Given the description of an element on the screen output the (x, y) to click on. 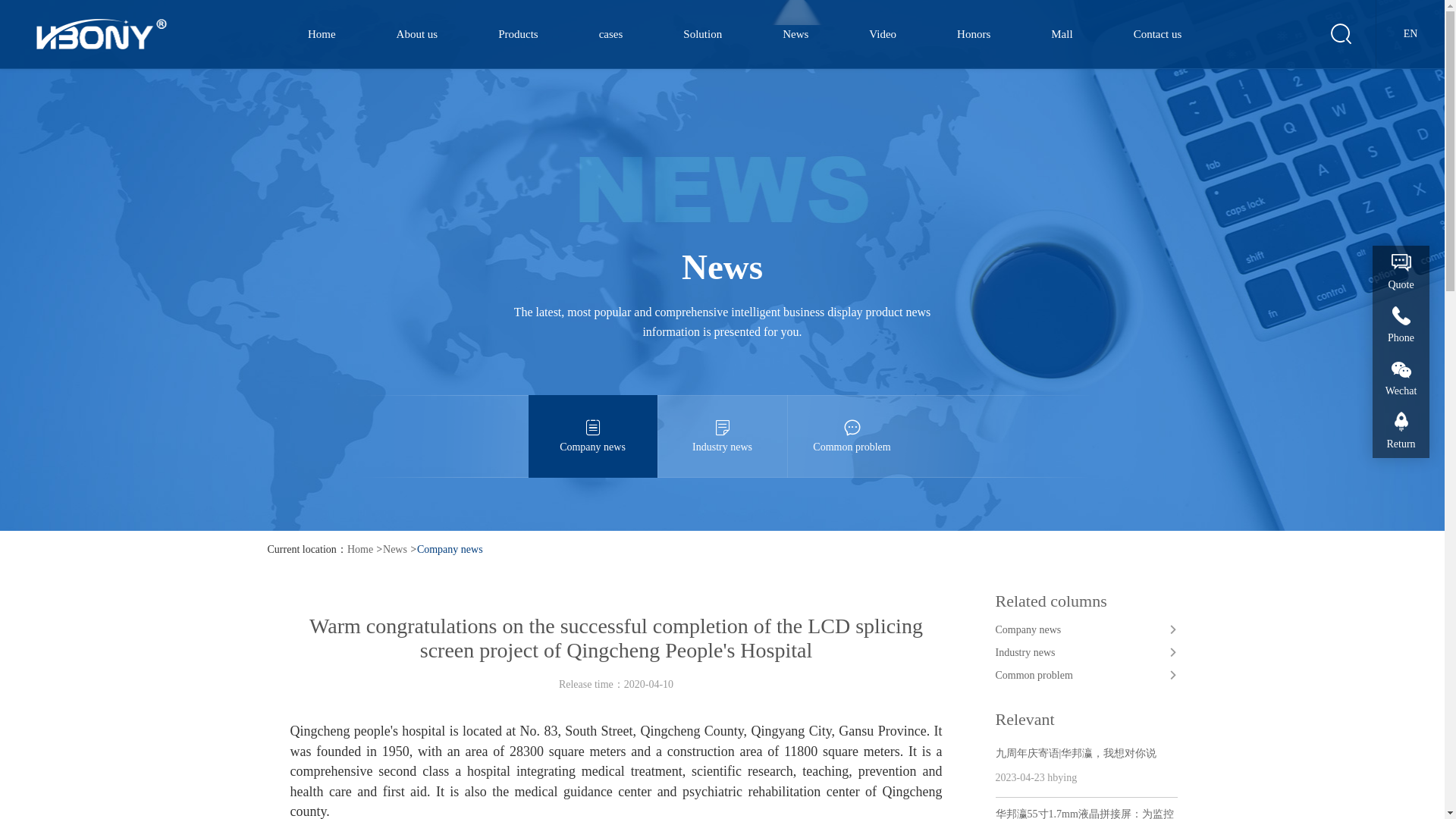
Products (518, 33)
Solution (702, 33)
About us (417, 33)
News (795, 33)
Honors (973, 33)
Home (322, 33)
cases (611, 33)
Video (882, 33)
